Given the description of an element on the screen output the (x, y) to click on. 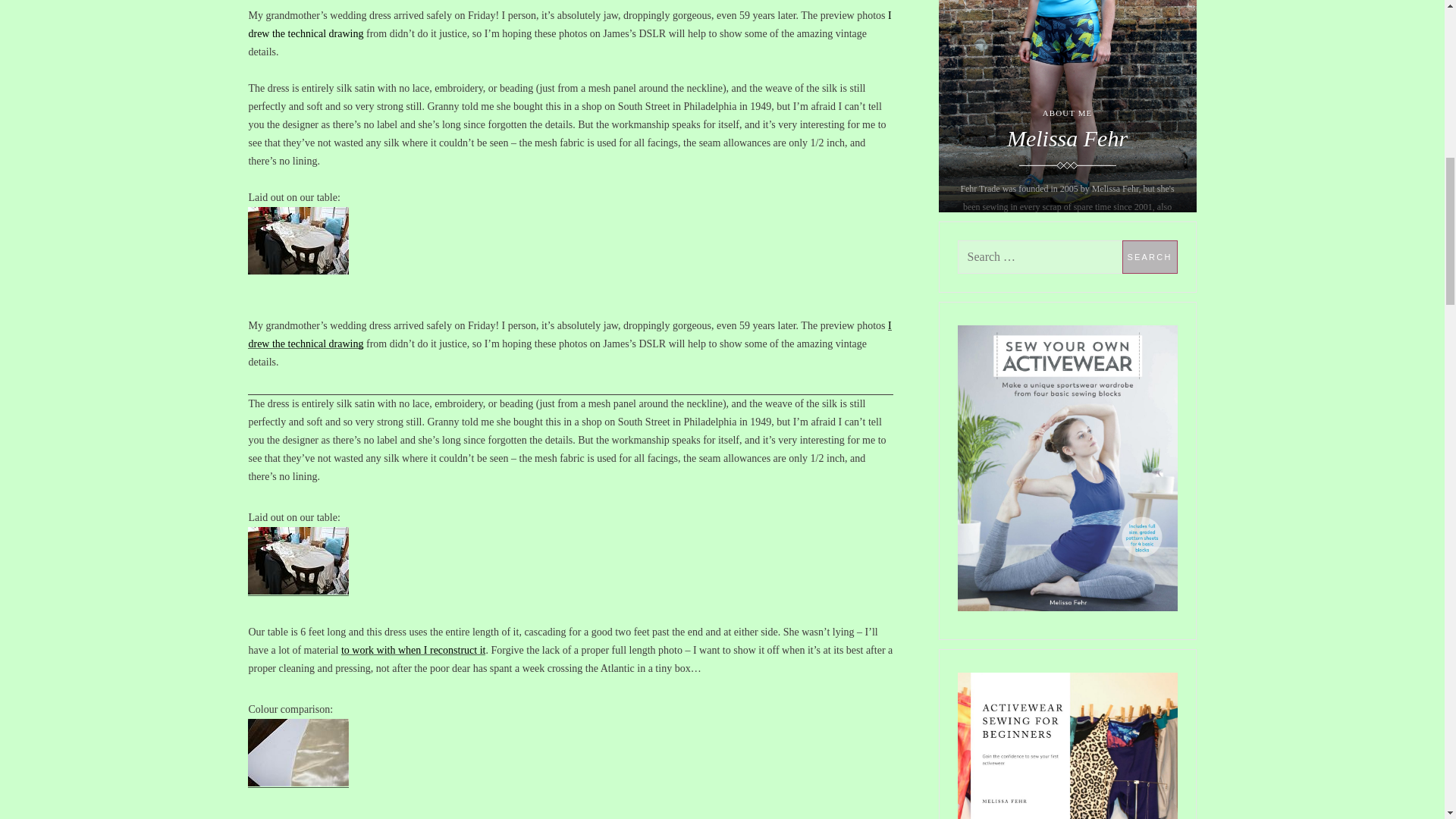
Search (1149, 256)
to work with when I reconstruct it (413, 650)
Search (1149, 256)
I drew the technical drawing (569, 24)
I drew the technical drawing (569, 334)
